Given the description of an element on the screen output the (x, y) to click on. 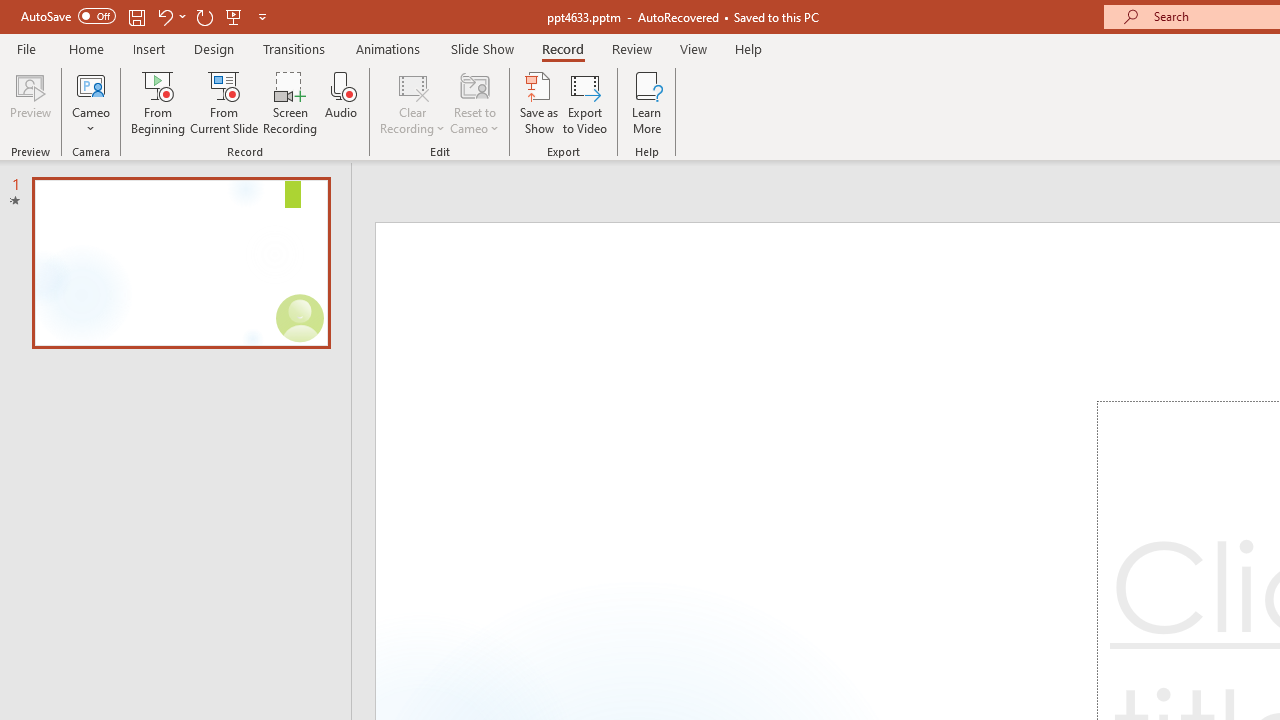
Export to Video (585, 102)
Reset to Cameo (474, 102)
Clear Recording (412, 102)
